Given the description of an element on the screen output the (x, y) to click on. 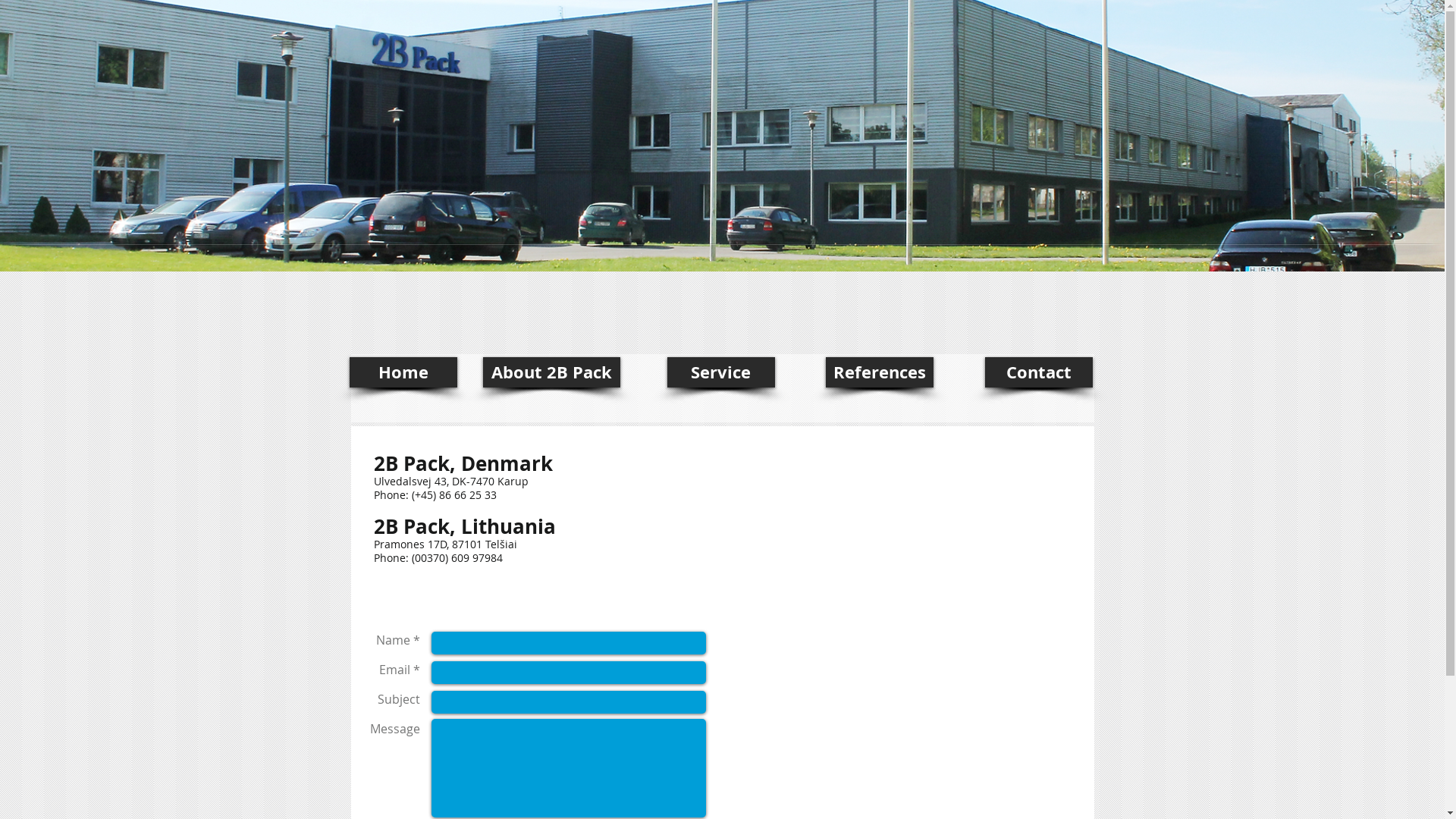
Home Element type: text (402, 372)
Service Element type: text (721, 372)
Contact Element type: text (1038, 372)
References Element type: text (878, 372)
About 2B Pack Element type: text (550, 372)
